Given the description of an element on the screen output the (x, y) to click on. 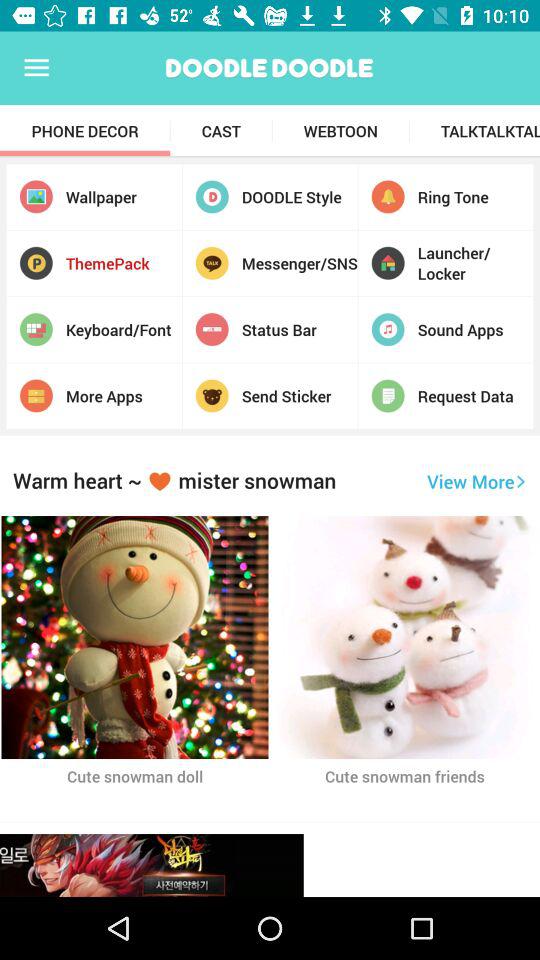
open the webtoon app (340, 131)
